Given the description of an element on the screen output the (x, y) to click on. 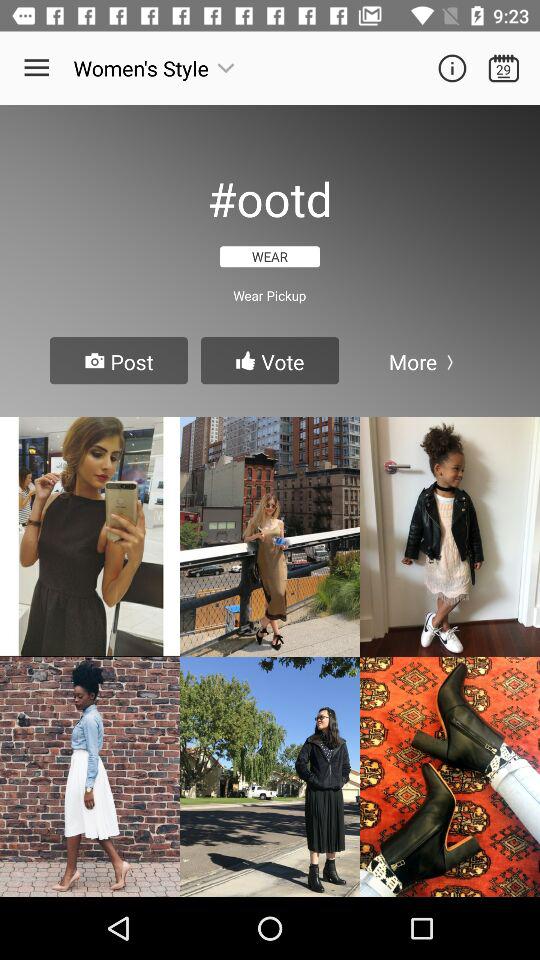
calendary (503, 68)
